Given the description of an element on the screen output the (x, y) to click on. 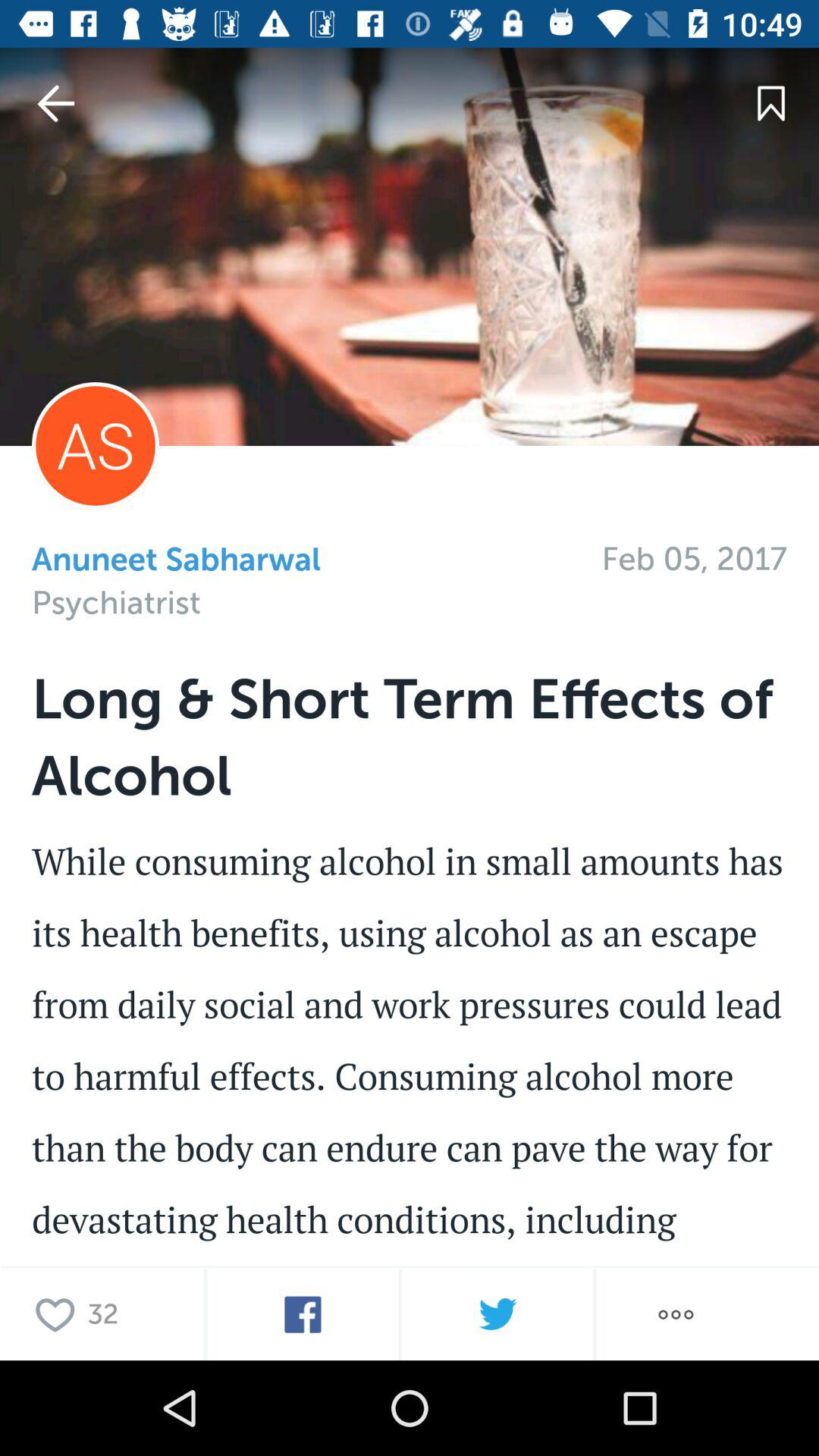
article content (409, 1093)
